Given the description of an element on the screen output the (x, y) to click on. 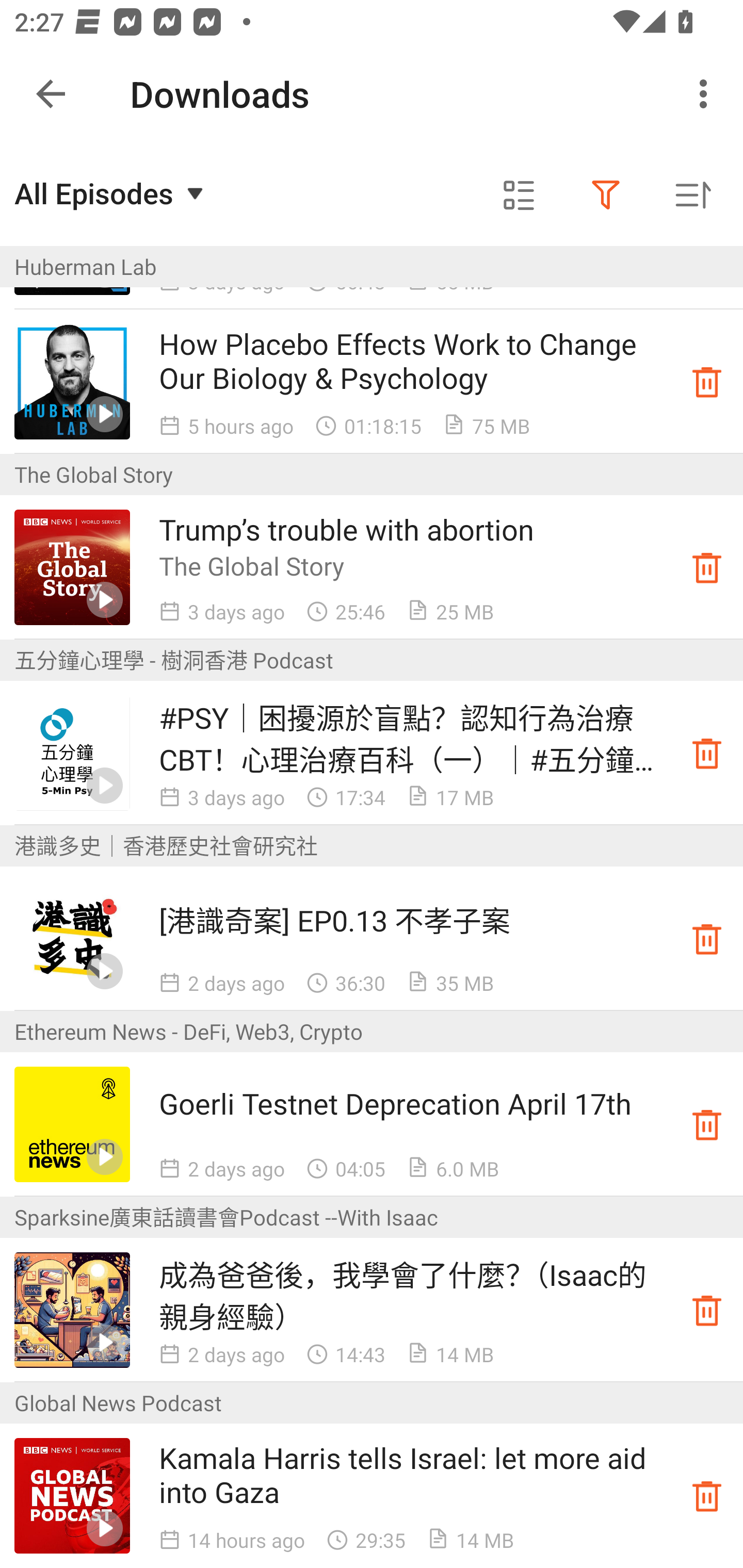
Navigate up (50, 93)
More options (706, 93)
All Episodes (111, 192)
 (518, 195)
 (605, 195)
 Sorted by oldest first (692, 195)
Downloaded (706, 381)
Downloaded (706, 567)
Downloaded (706, 752)
Downloaded (706, 938)
Downloaded (706, 1124)
Downloaded (706, 1309)
Downloaded (706, 1495)
